Given the description of an element on the screen output the (x, y) to click on. 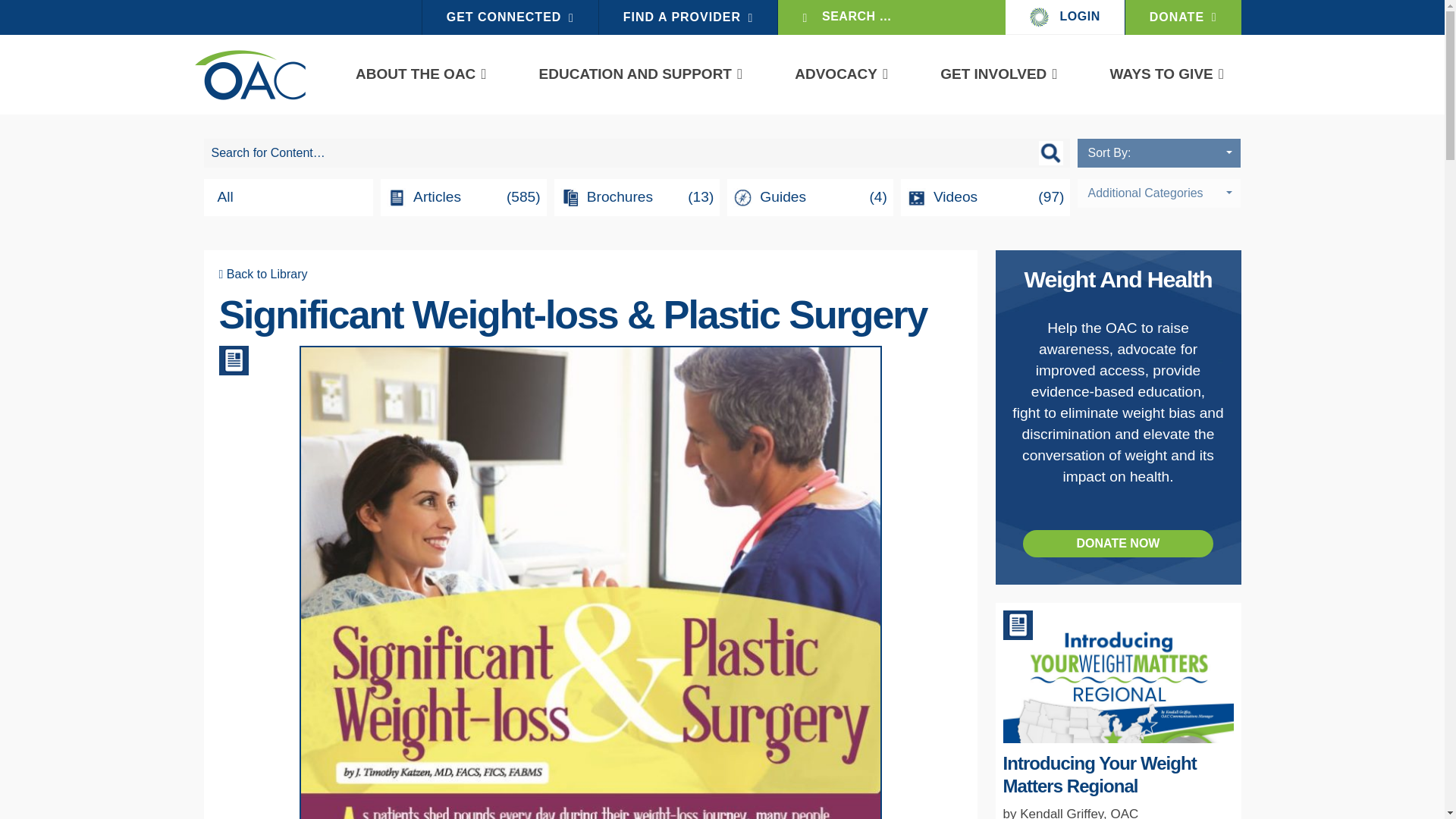
LOGIN (1065, 17)
Search for: (636, 152)
DONATE (1183, 17)
ABOUT THE OAC (415, 74)
Introducing Your Weight Matters Regional (1118, 758)
EDUCATION AND SUPPORT (635, 74)
Introducing Your Weight Matters Regional (1099, 774)
GET CONNECTED (510, 17)
Search (12, 12)
FIND A PROVIDER (687, 17)
